Given the description of an element on the screen output the (x, y) to click on. 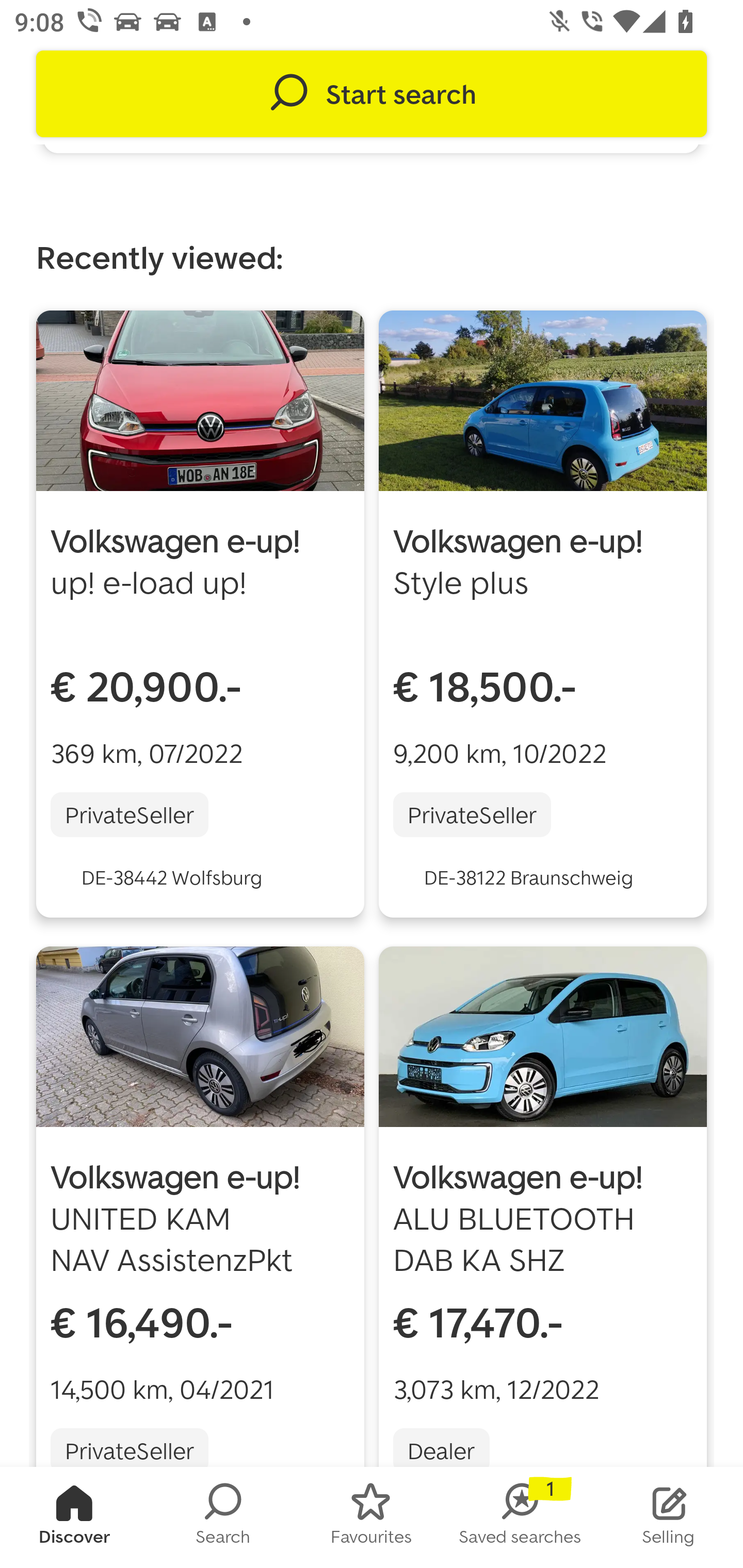
Start search (371, 93)
HOMESCREEN Discover (74, 1517)
SEARCH Search (222, 1517)
FAVORITES Favourites (371, 1517)
SAVED_SEARCHES Saved searches 1 (519, 1517)
STOCK_LIST Selling (668, 1517)
